Given the description of an element on the screen output the (x, y) to click on. 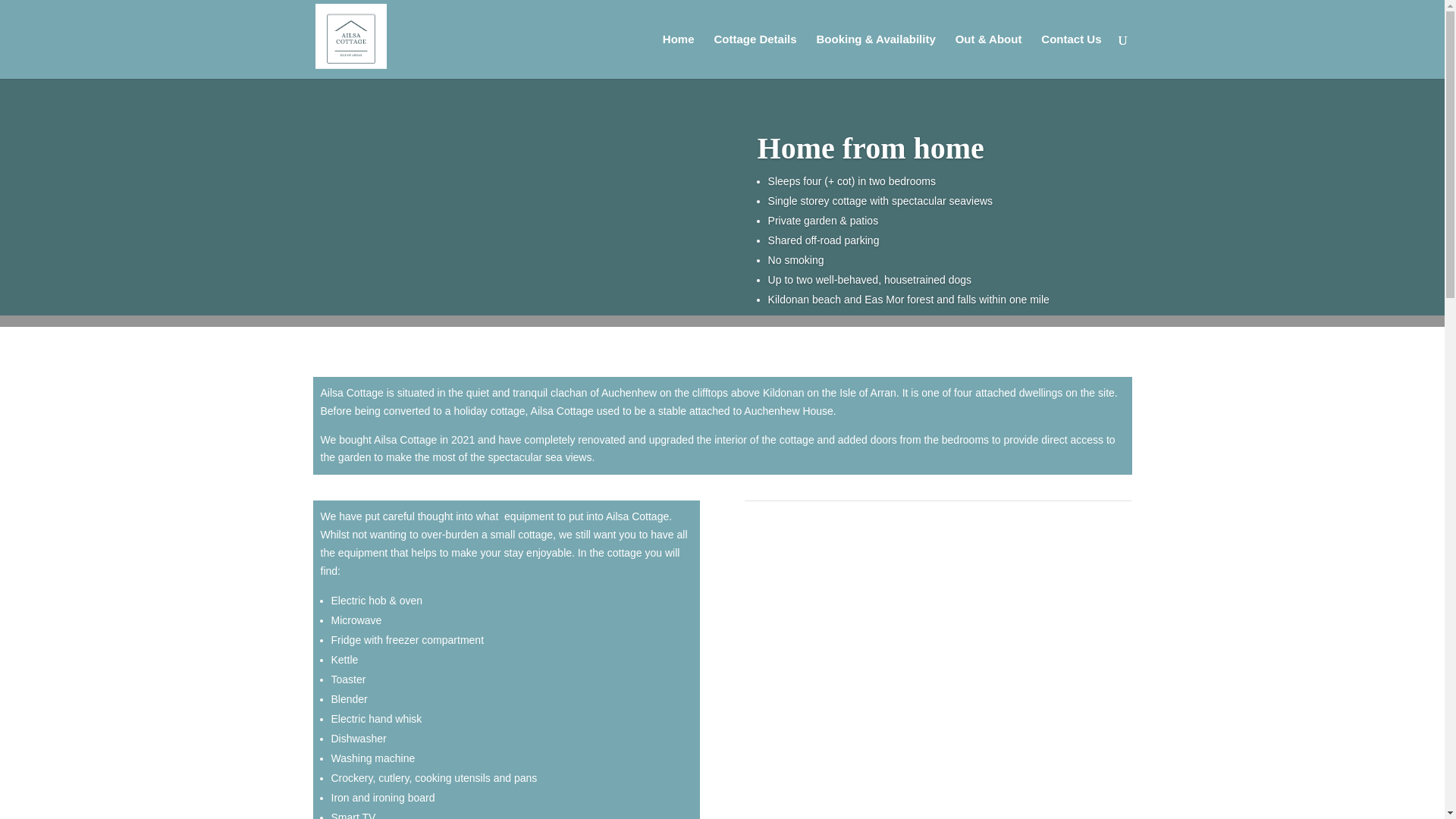
Cottage Details (754, 56)
Contact Us (1070, 56)
Home (678, 56)
